Given the description of an element on the screen output the (x, y) to click on. 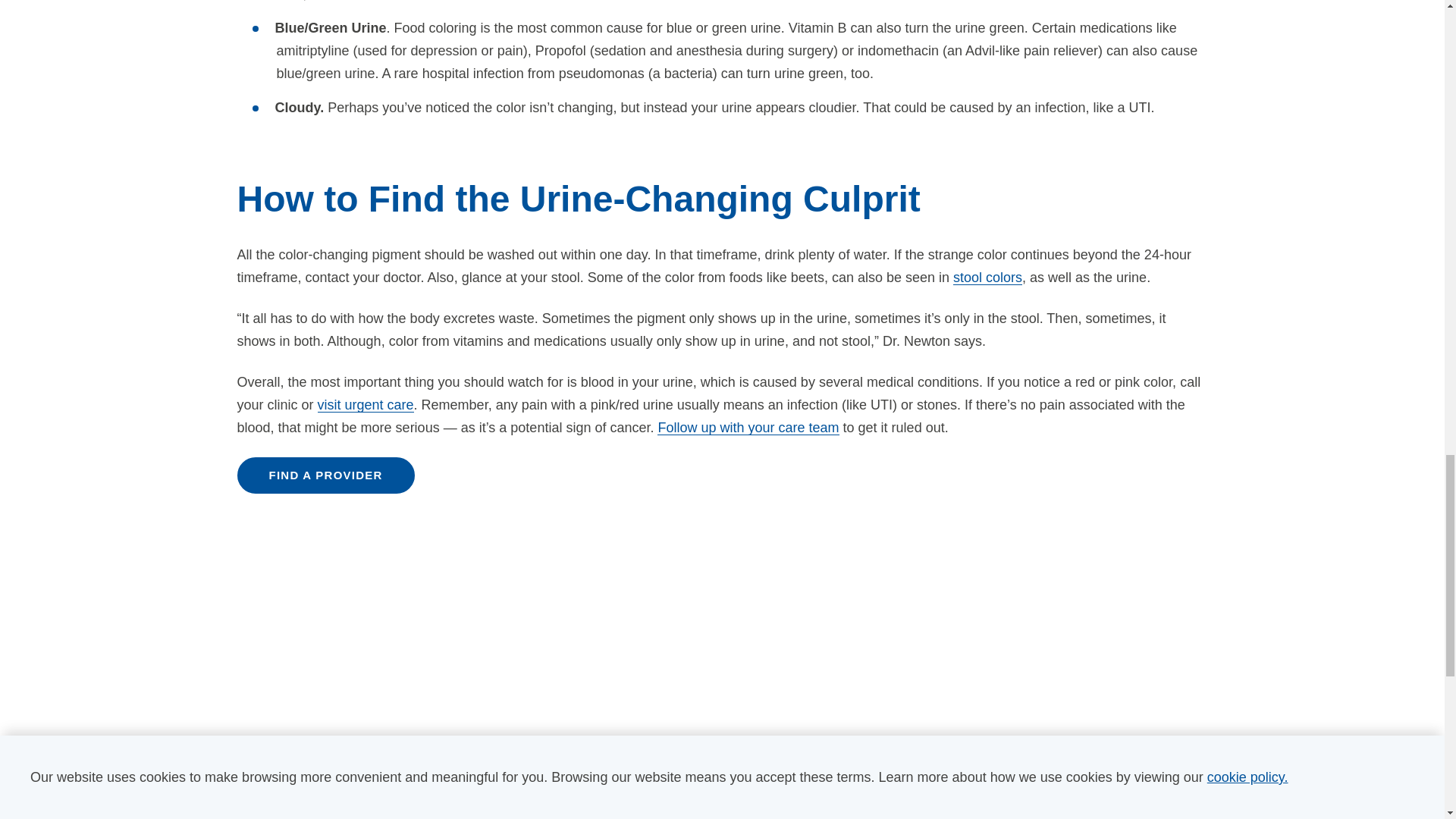
stool colors (987, 277)
Follow up with your care team (748, 427)
FIND A PROVIDER (324, 475)
visit urgent care (365, 404)
